Given the description of an element on the screen output the (x, y) to click on. 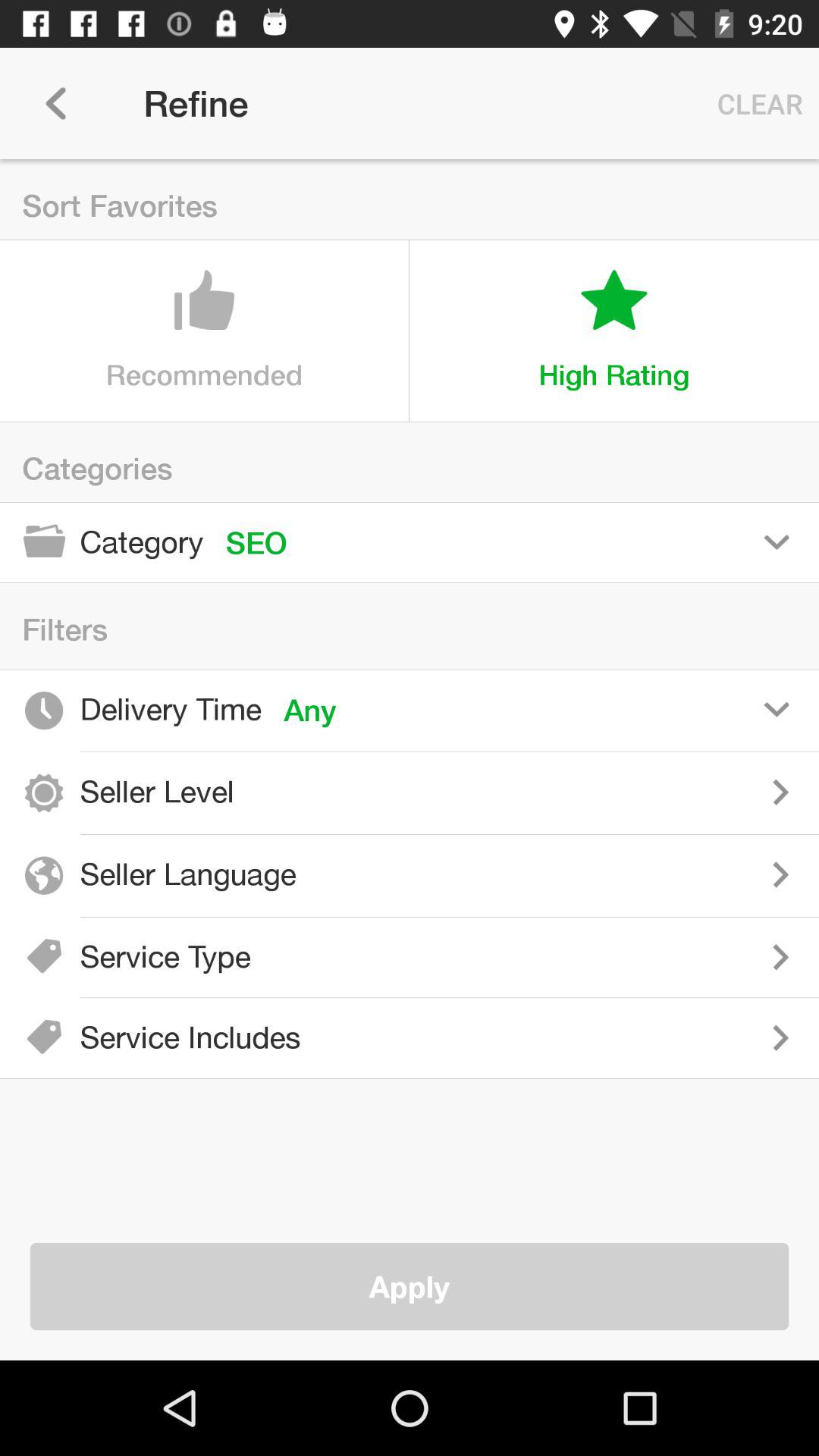
turn off the icon to the right of refine icon (756, 103)
